Given the description of an element on the screen output the (x, y) to click on. 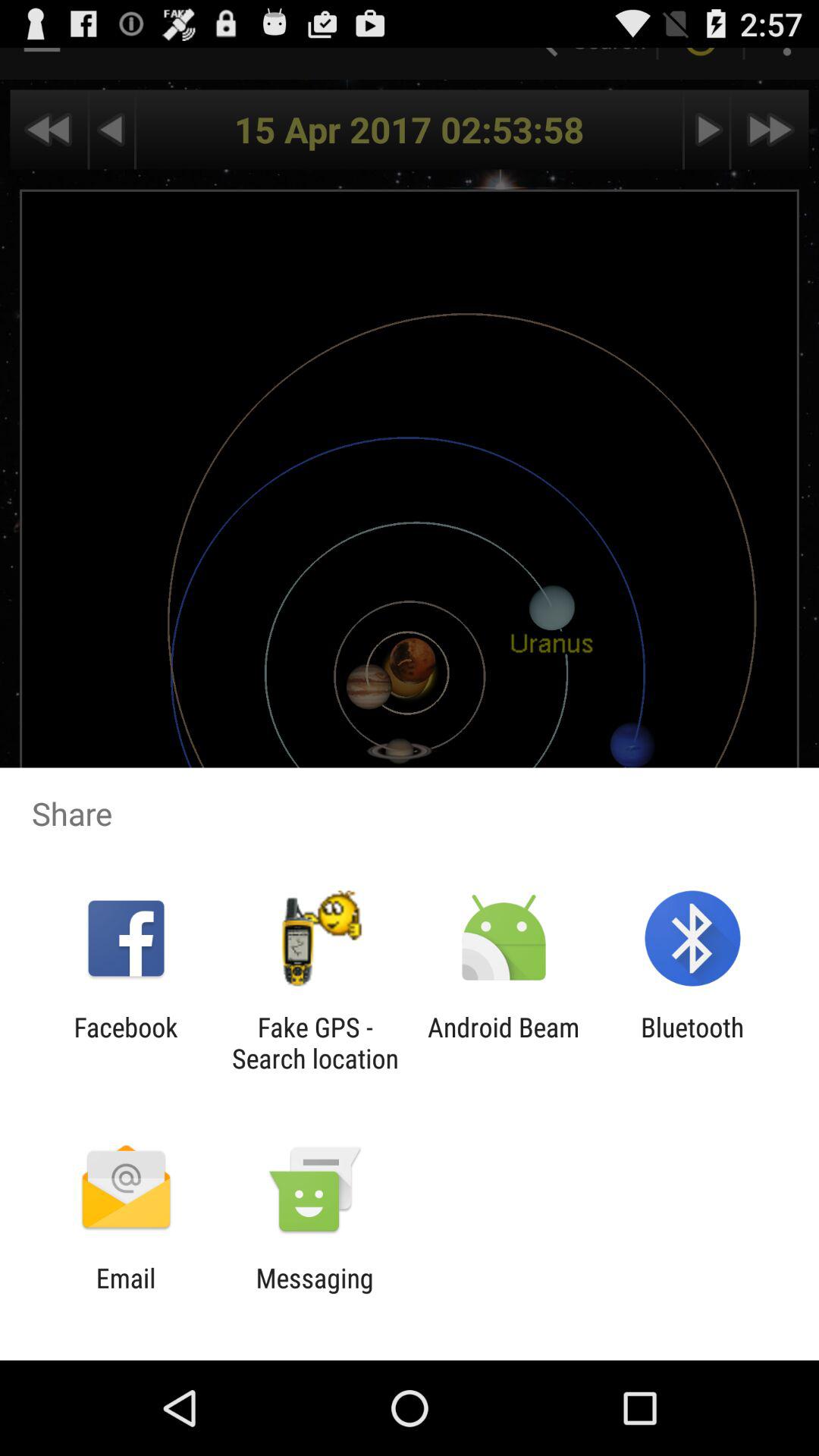
turn off icon to the left of fake gps search app (125, 1042)
